Given the description of an element on the screen output the (x, y) to click on. 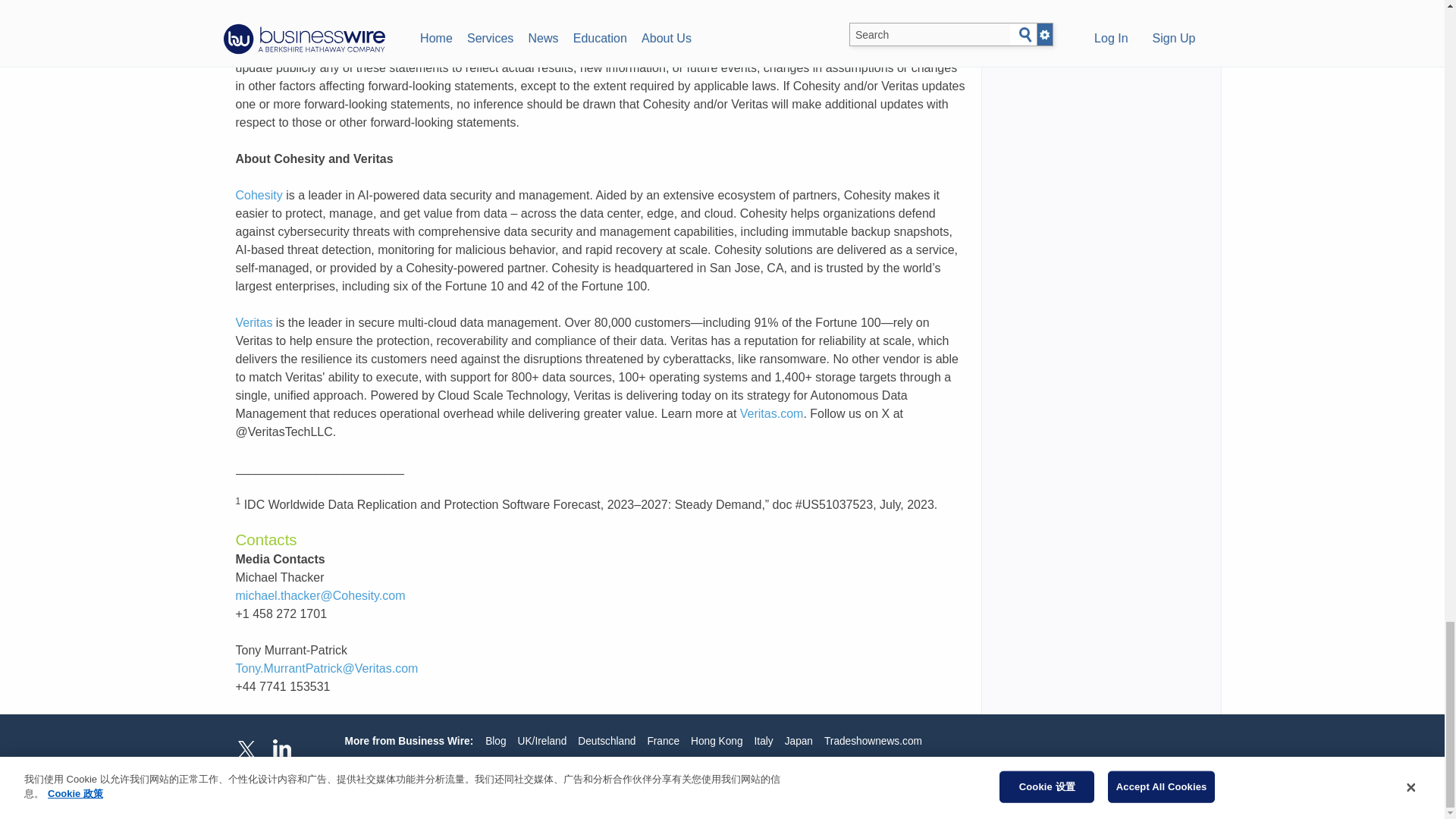
Cohesity (258, 195)
Veritas (253, 322)
Veritas.com (771, 413)
